Given the description of an element on the screen output the (x, y) to click on. 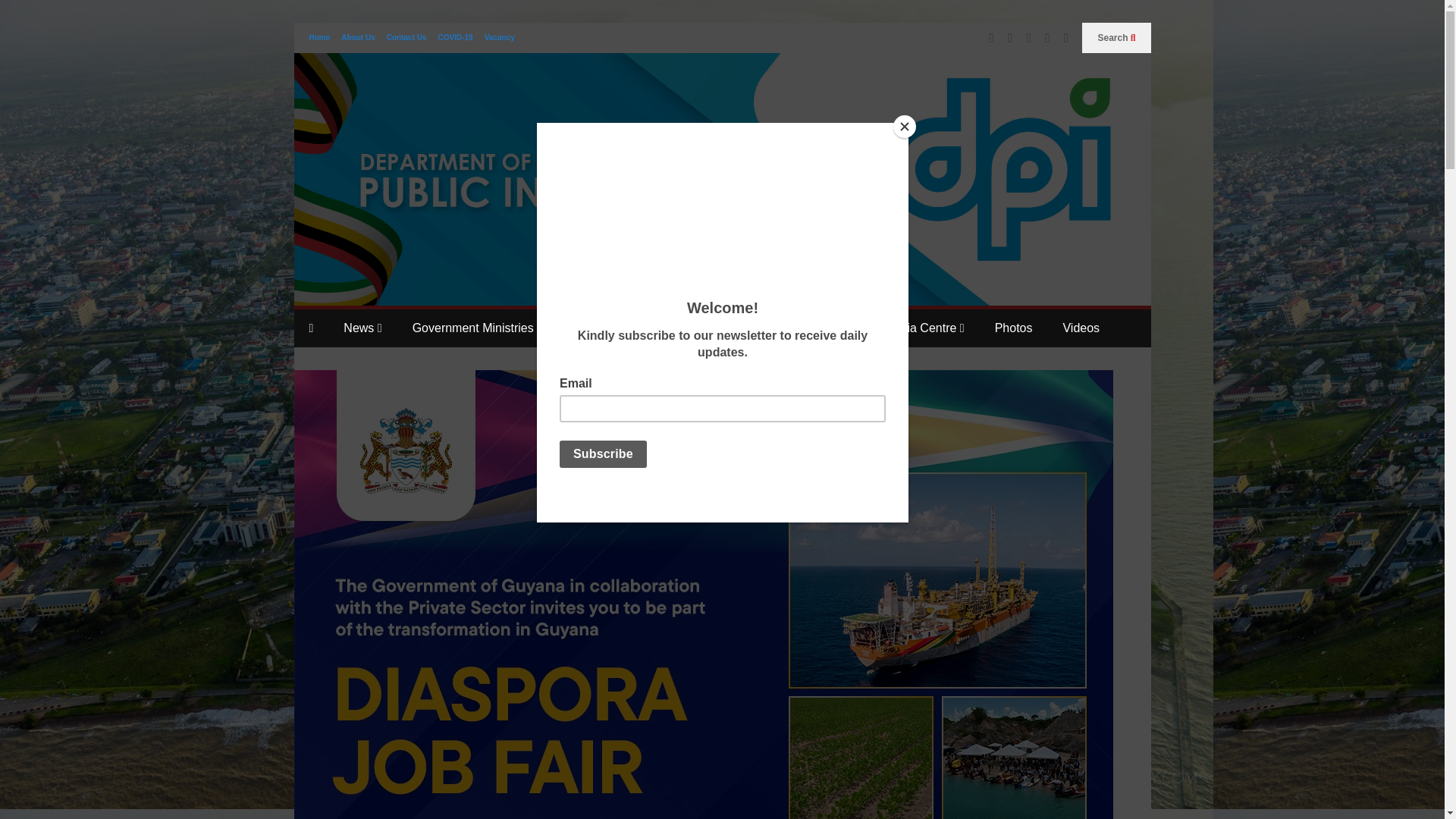
Twitter (1010, 37)
About Us (357, 37)
Instagram (1029, 37)
Flickr (1066, 37)
Search (1116, 37)
COVID-19 (455, 37)
Youtube (1047, 37)
Contact Us (406, 37)
Vacancy (499, 37)
Home (319, 37)
News (362, 328)
Facebook (992, 37)
